Given the description of an element on the screen output the (x, y) to click on. 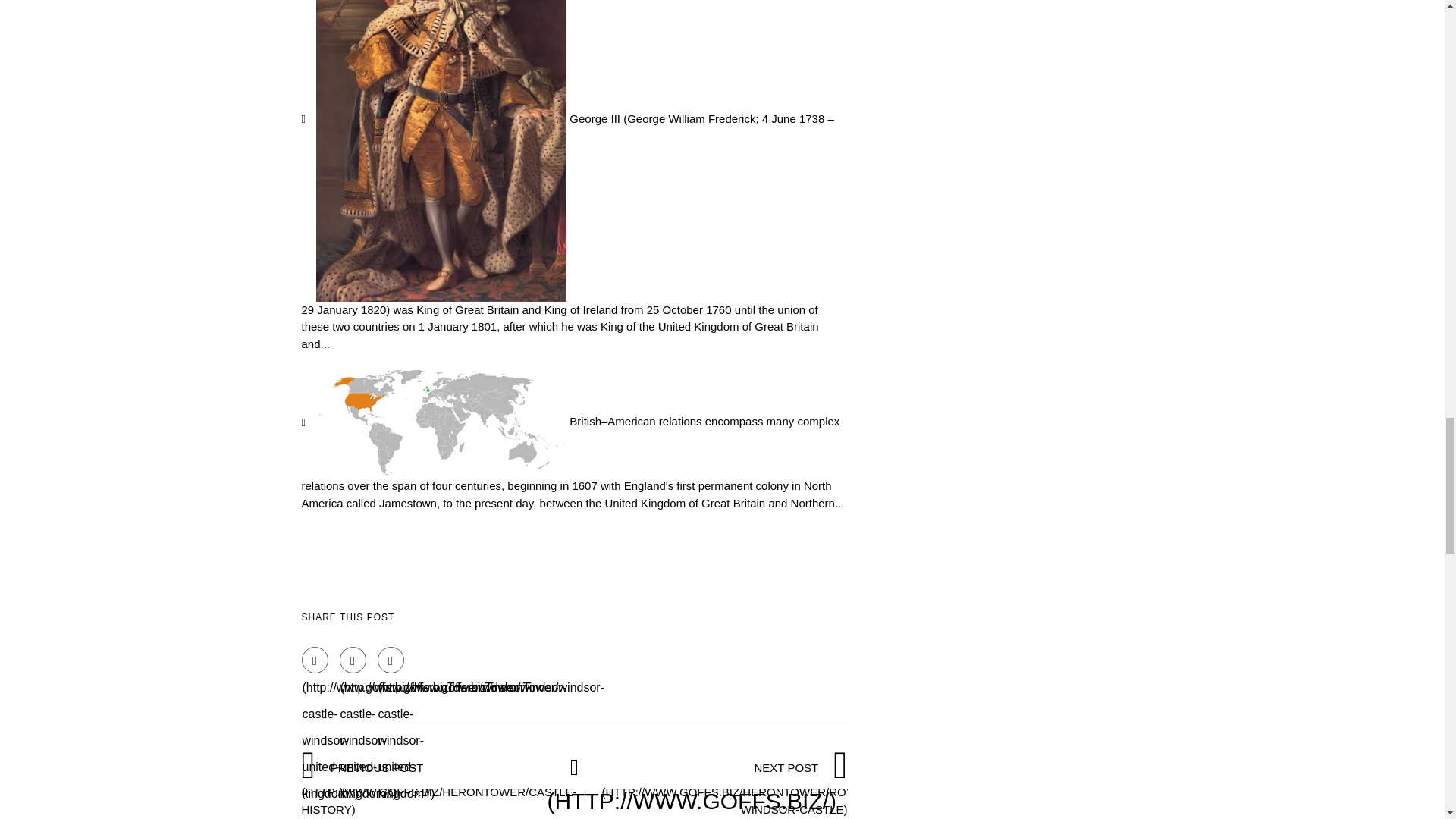
NEXT POST (736, 787)
Google Plus (390, 660)
Twitter (352, 660)
Facebook (315, 660)
PREVIOUS POST (438, 787)
